Given the description of an element on the screen output the (x, y) to click on. 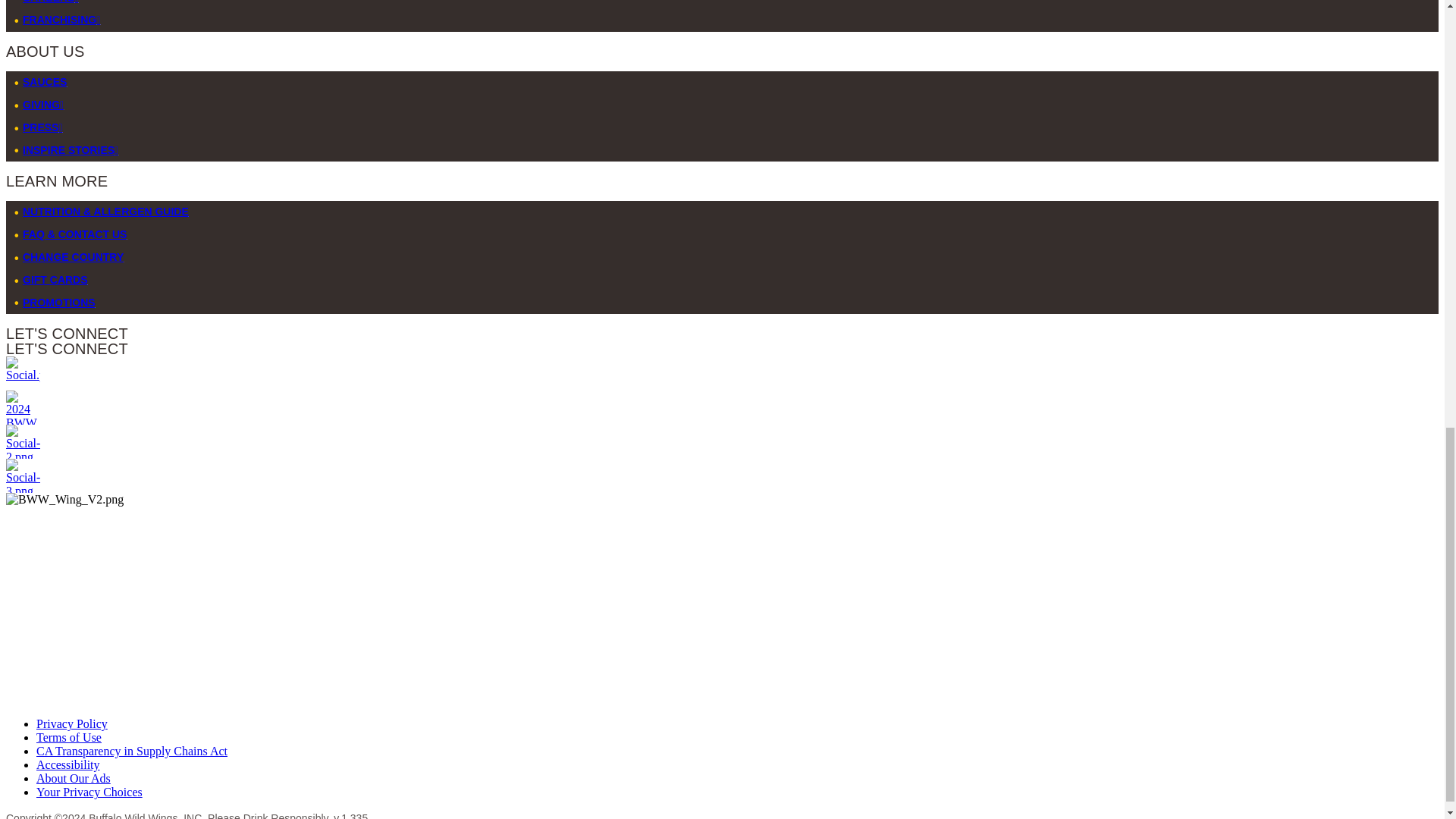
About Our Ads (73, 778)
PROMOTIONS (59, 302)
GIVING (43, 104)
SAUCES (44, 81)
Terms of Use (68, 737)
CAREERS (50, 2)
CA Transparency in Supply Chains Act (131, 750)
CHANGE COUNTRY (73, 256)
Privacy Policy (71, 723)
Accessibility (68, 764)
FRANCHISING (61, 19)
GIFT CARDS (55, 279)
INSPIRE STORIES (70, 150)
PRESS (42, 127)
